Given the description of an element on the screen output the (x, y) to click on. 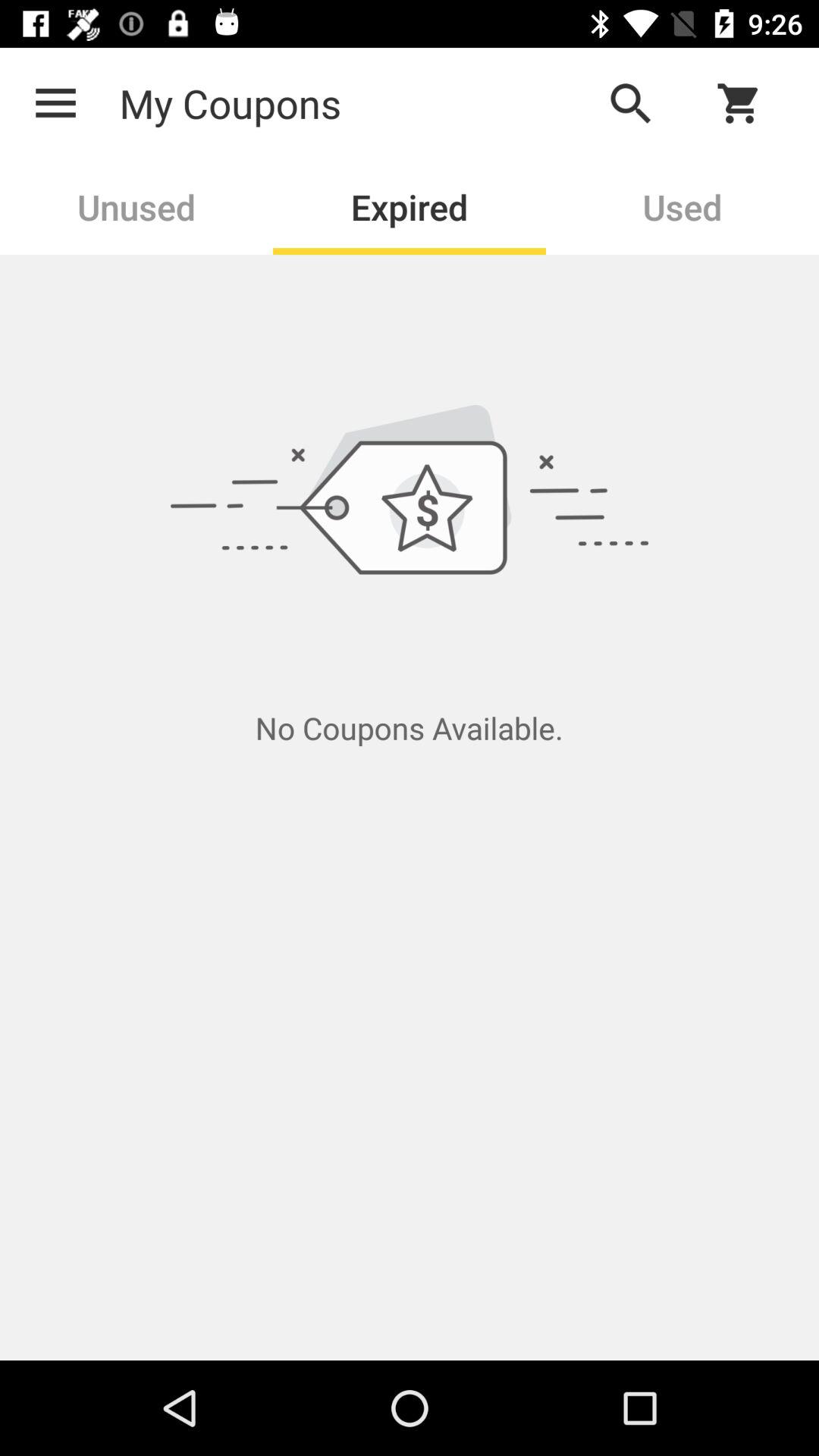
turn on the item above the used (748, 103)
